Given the description of an element on the screen output the (x, y) to click on. 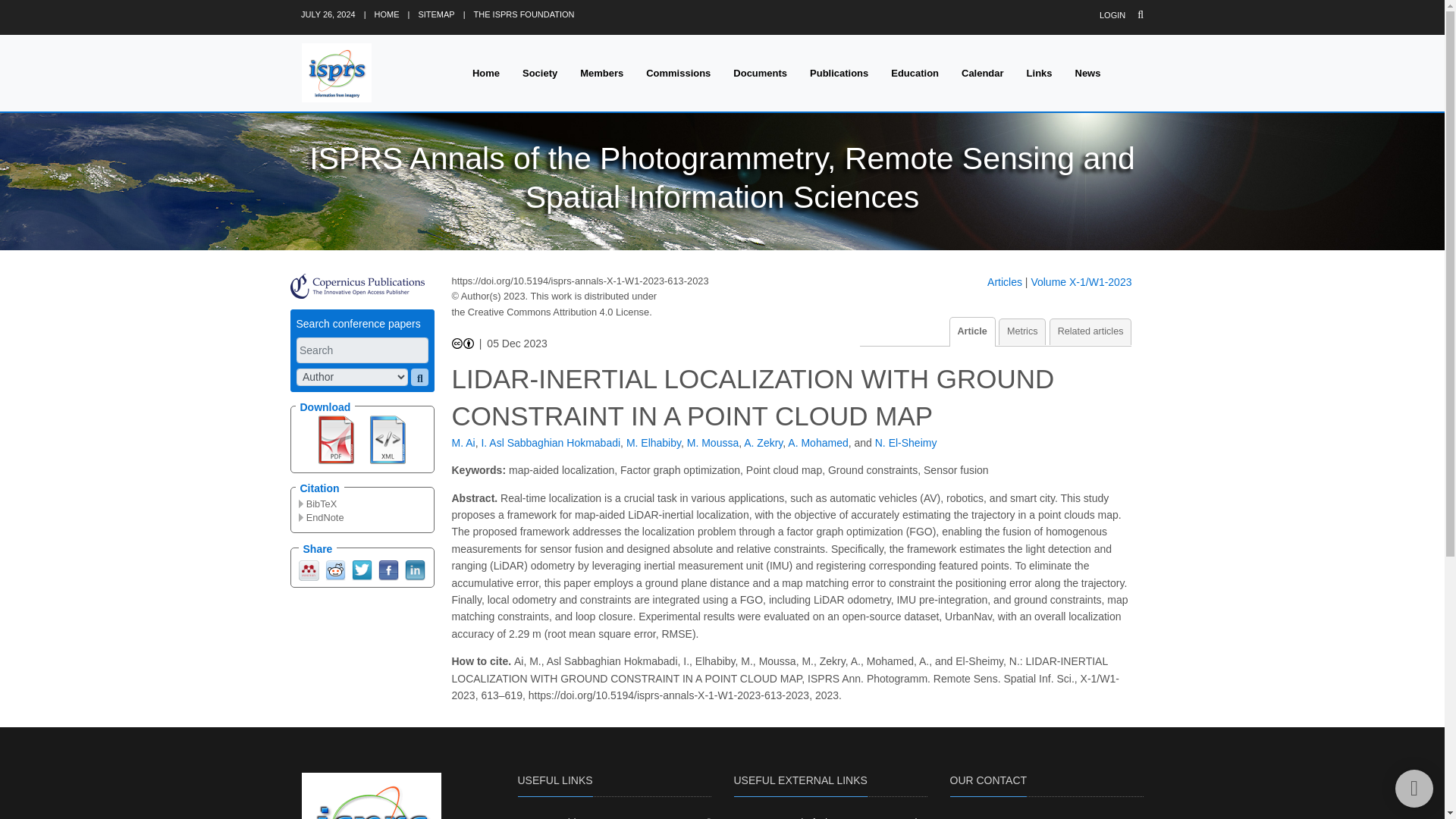
LOGIN (1112, 14)
SITEMAP (435, 13)
HOME (386, 13)
Society (539, 73)
THE ISPRS FOUNDATION (524, 13)
Home (485, 73)
